Given the description of an element on the screen output the (x, y) to click on. 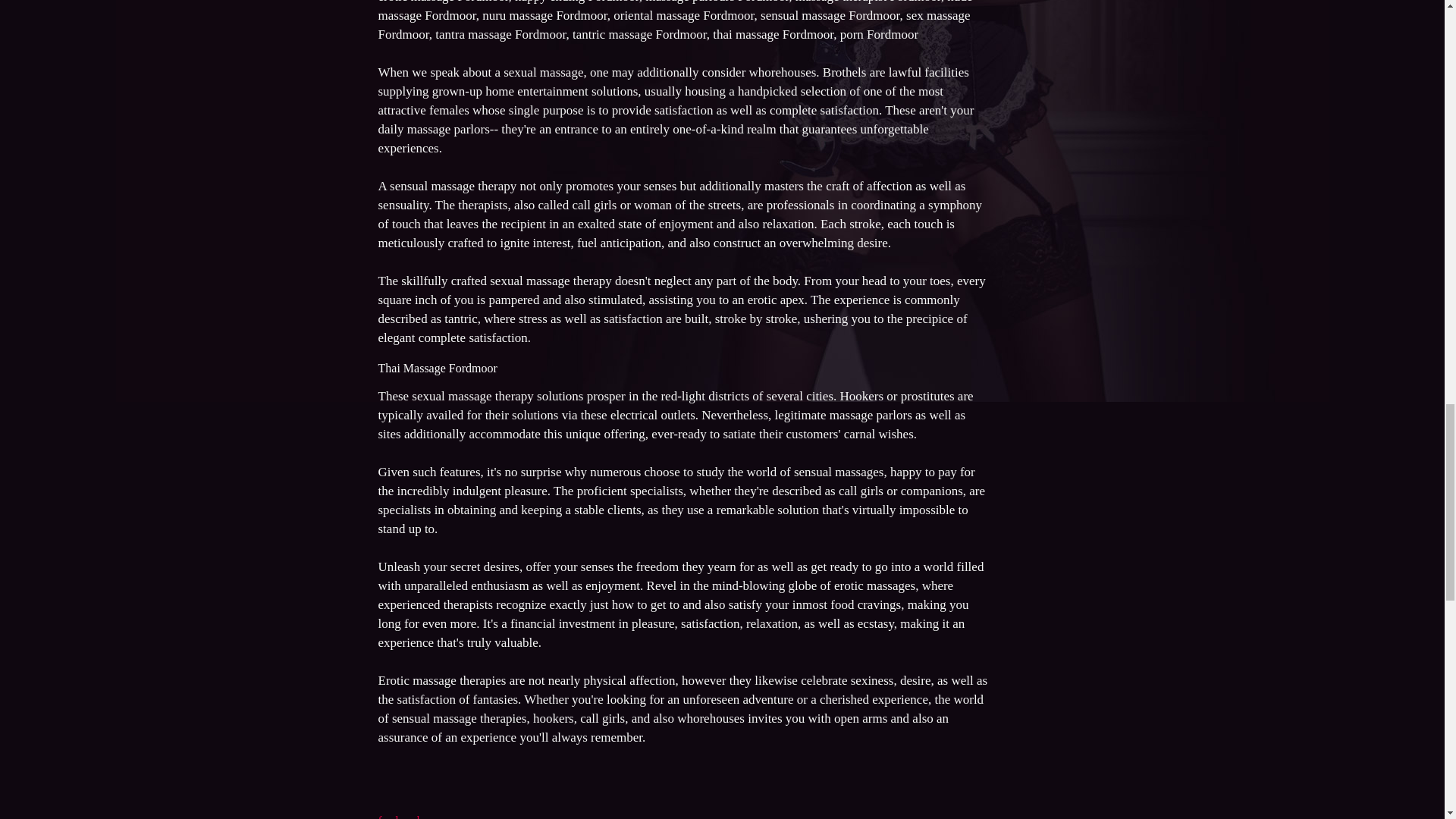
ford park (399, 816)
